Given the description of an element on the screen output the (x, y) to click on. 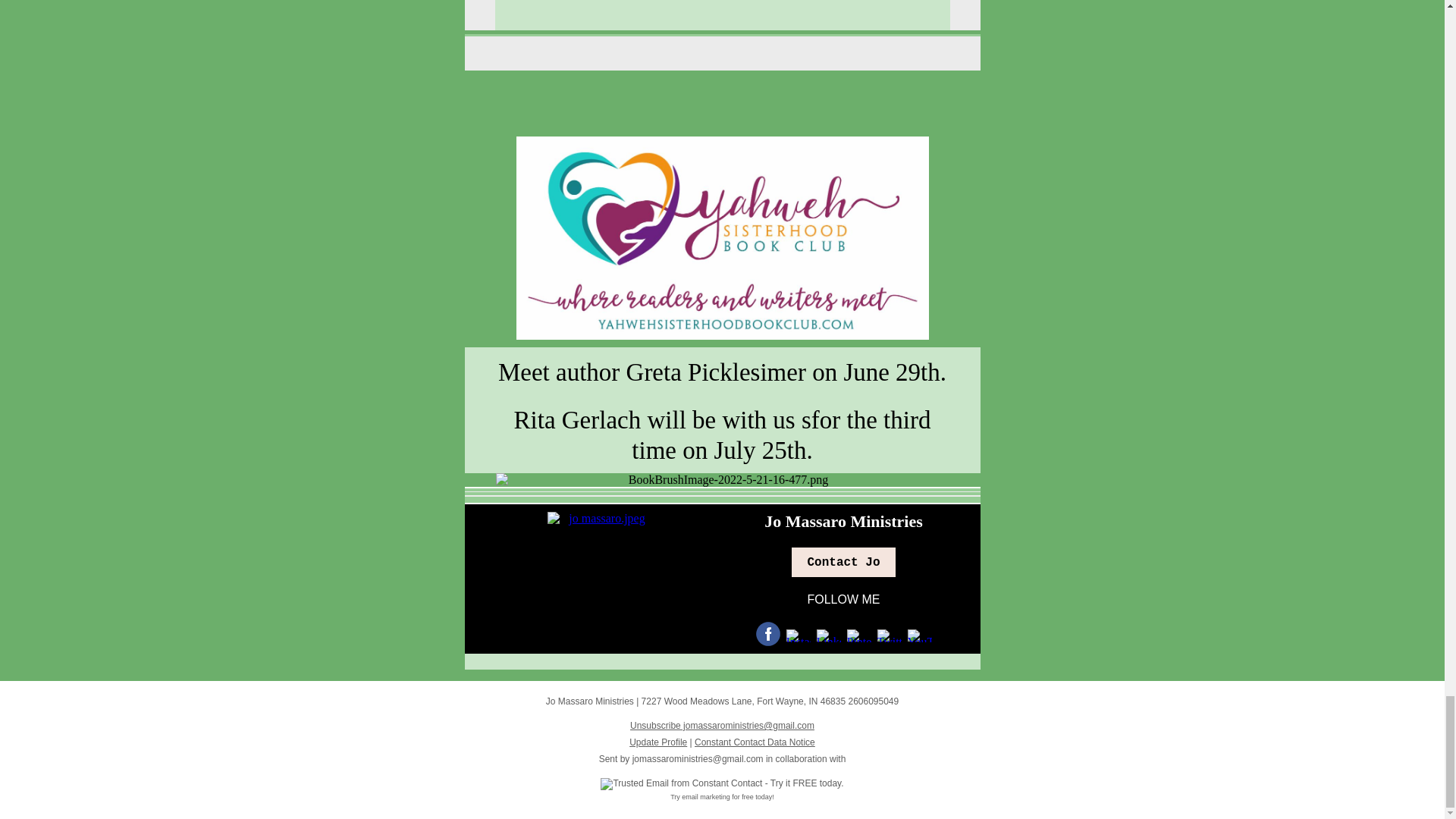
Try email marketing for free today! (721, 796)
Jo Massaro Ministries (843, 520)
Constant Contact Data Notice (754, 742)
Update Profile (657, 742)
Contact Jo (842, 562)
